Given the description of an element on the screen output the (x, y) to click on. 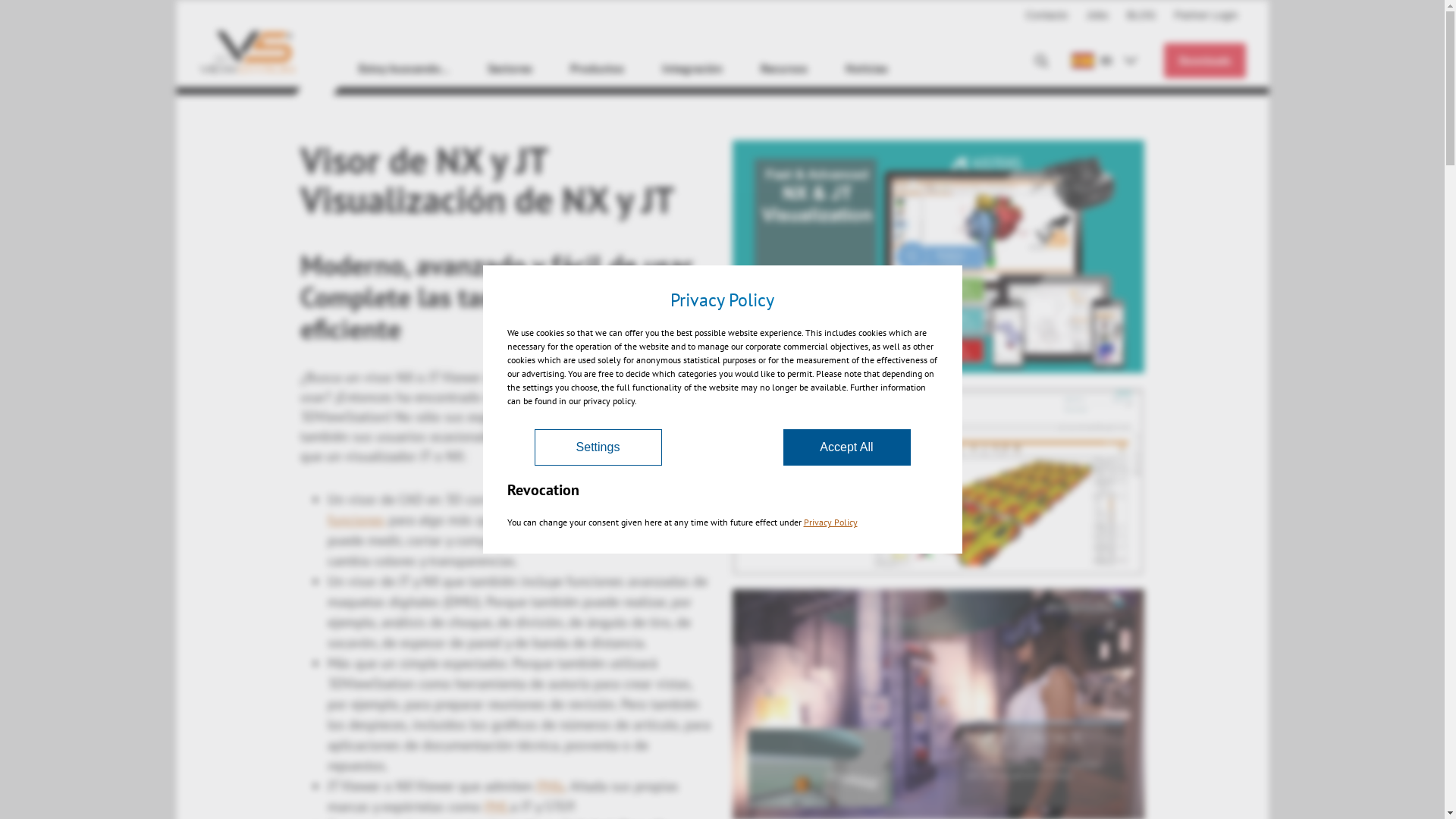
Group 8Created with Sketch.< Element type: text (1041, 59)
Jobs Element type: text (1097, 15)
Accept All Element type: text (846, 447)
PMI Element type: text (497, 806)
Logo_3DViewStation_withoutCheetahCreated with Sketch.< Element type: text (245, 47)
Recursos Element type: text (783, 71)
3DViewStation with Siemens ActiveWorkspace Element type: hover (938, 480)
Privacy Policy Element type: text (830, 521)
PMIs Element type: text (550, 785)
Contacto Element type: text (1047, 15)
Find Element type: text (848, 58)
Partner Login Element type: text (1205, 15)
Sectores Element type: text (508, 71)
Estoy buscando... Element type: text (403, 71)
Settings Element type: text (597, 447)
Downloads Element type: text (1204, 59)
Noticias Element type: text (865, 71)
Kisters 3DViewStation: NX Viewer and JT Viewer Element type: hover (938, 256)
BLOG Element type: text (1142, 15)
Productos Element type: text (597, 71)
